Given the description of an element on the screen output the (x, y) to click on. 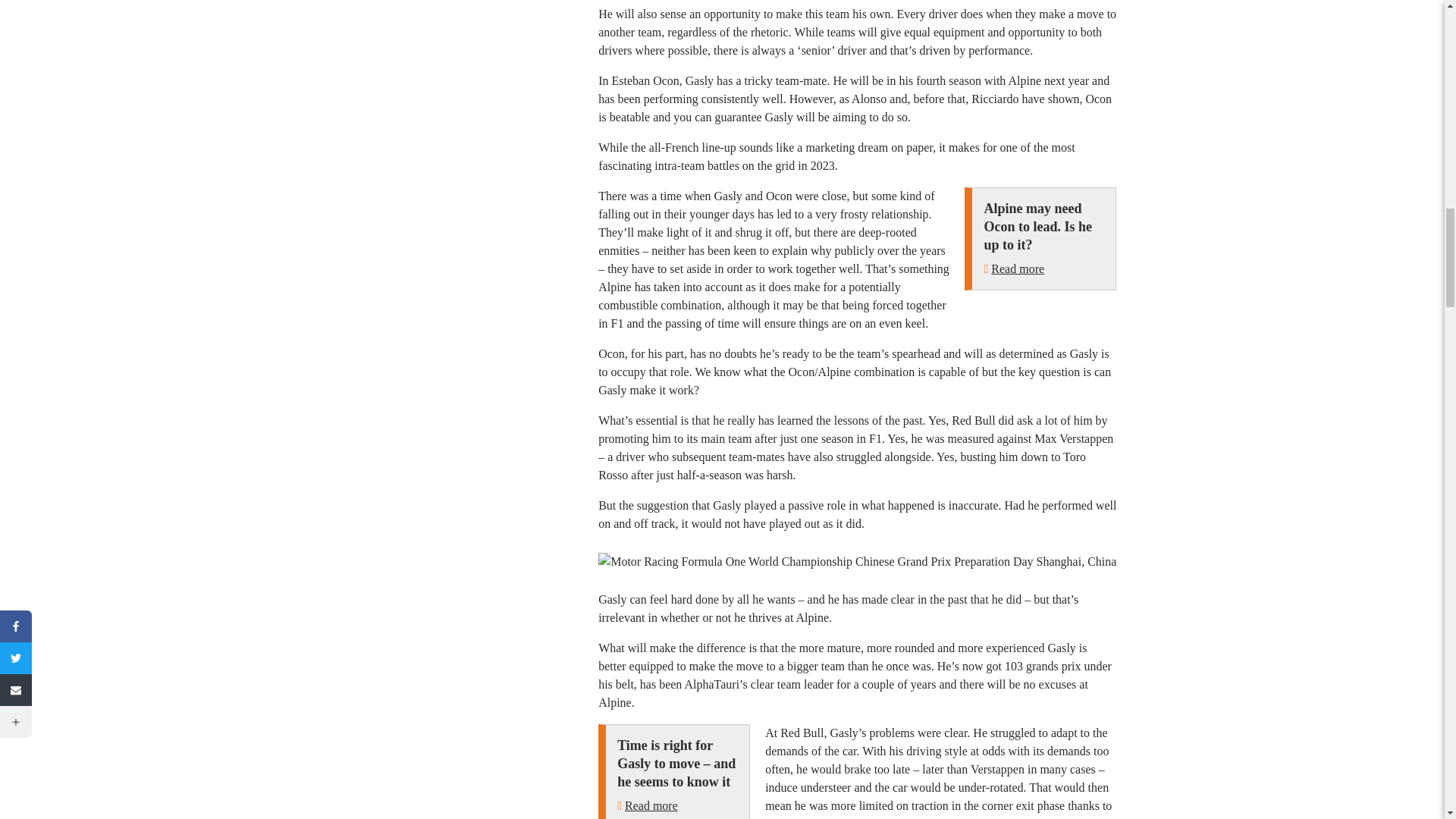
Read more (1017, 268)
Read more (651, 805)
